Given the description of an element on the screen output the (x, y) to click on. 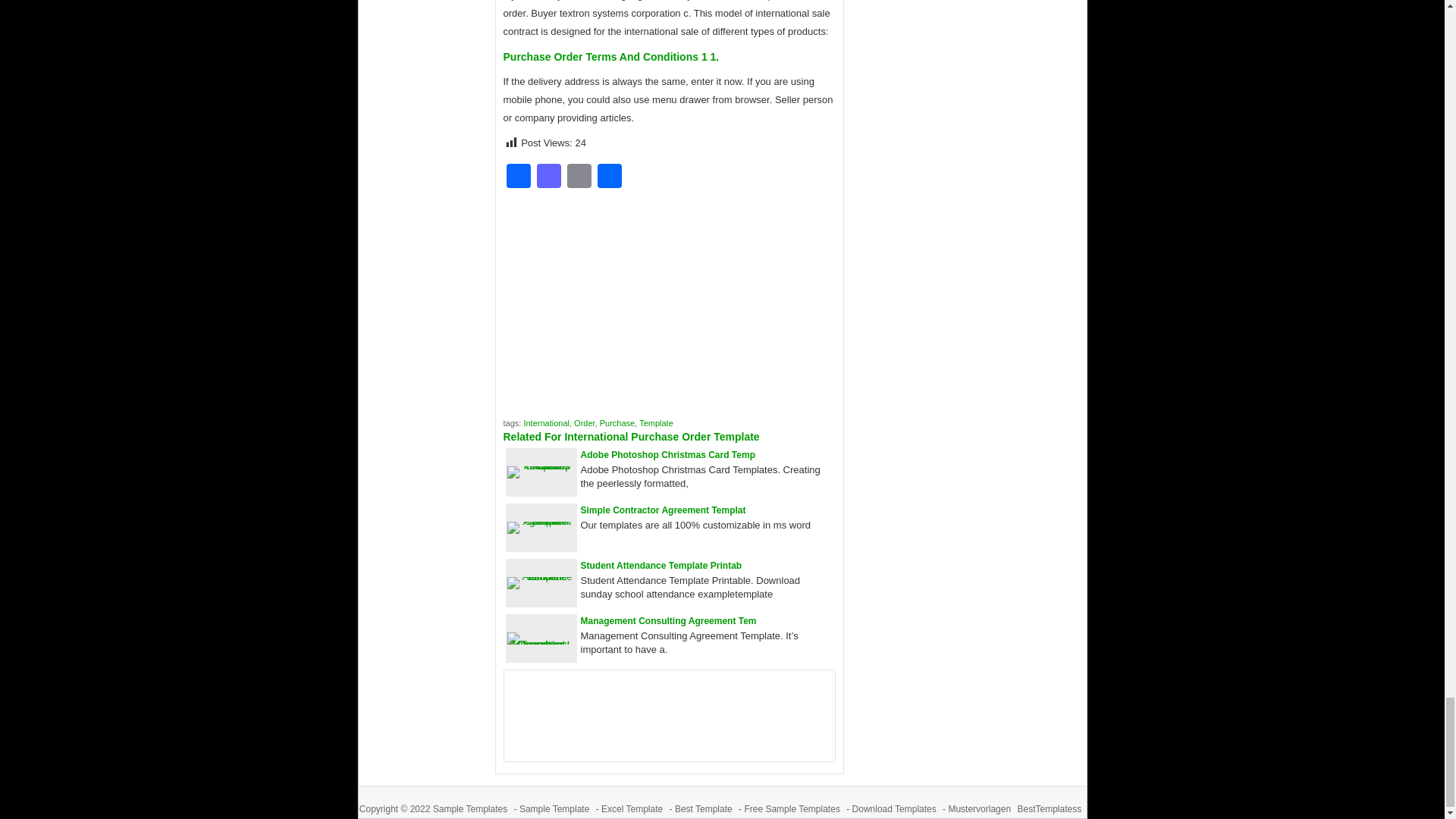
Order (584, 422)
Facebook (518, 177)
Email (579, 177)
Facebook (518, 177)
Student Attendance Template Printable (661, 565)
Simple Contractor Agreement Template (662, 510)
Management Consulting Agreement Tem (668, 620)
Email (579, 177)
Student Attendance Template Printab (661, 565)
Adobe Photoshop Christmas Card Temp (667, 454)
